Given the description of an element on the screen output the (x, y) to click on. 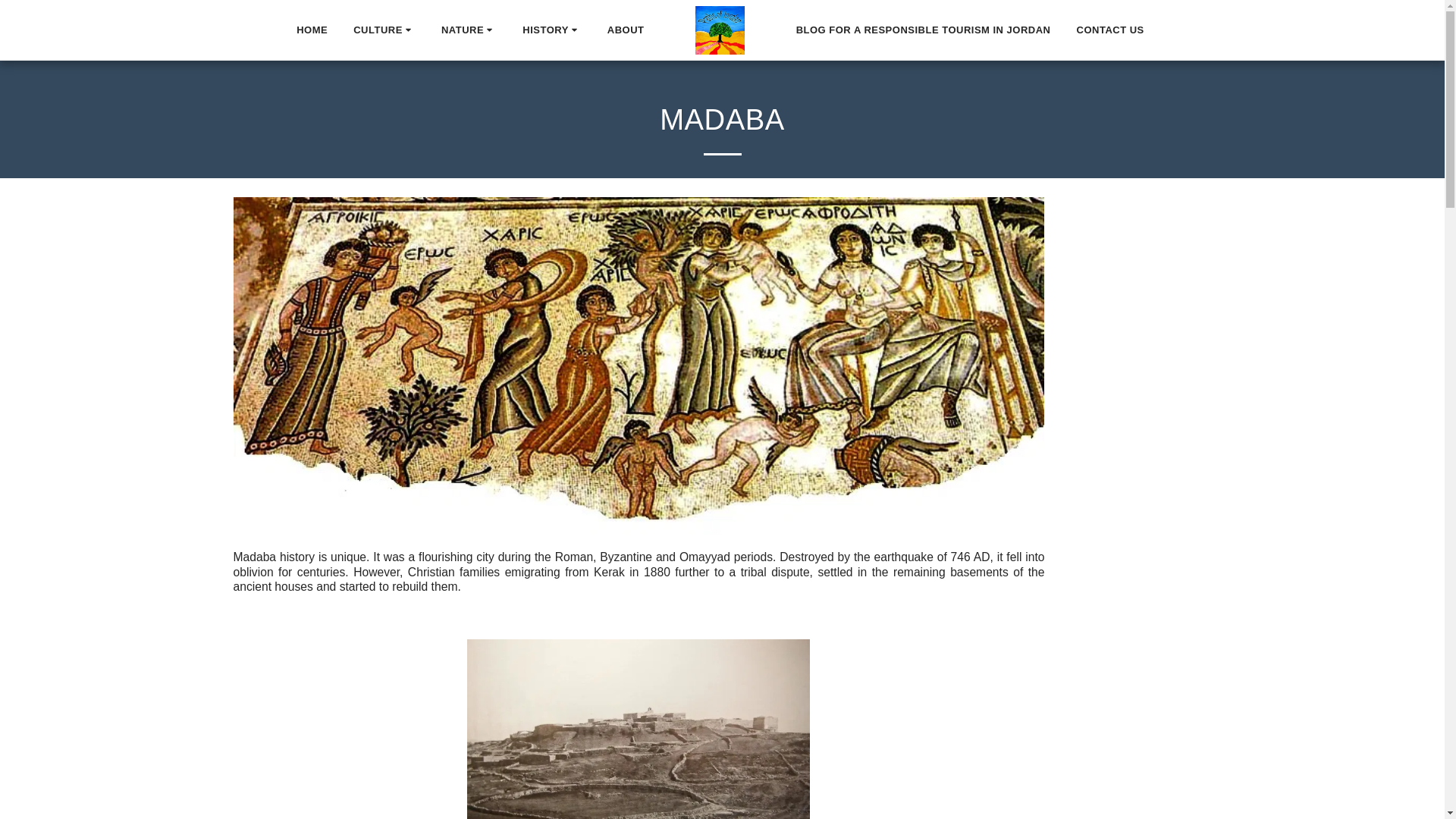
HISTORY   (551, 29)
NATURE   (468, 29)
BLOG FOR A RESPONSIBLE TOURISM IN JORDAN (923, 29)
CONTACT US (1110, 29)
CULTURE   (384, 29)
ABOUT (625, 29)
HOME (311, 29)
